Given the description of an element on the screen output the (x, y) to click on. 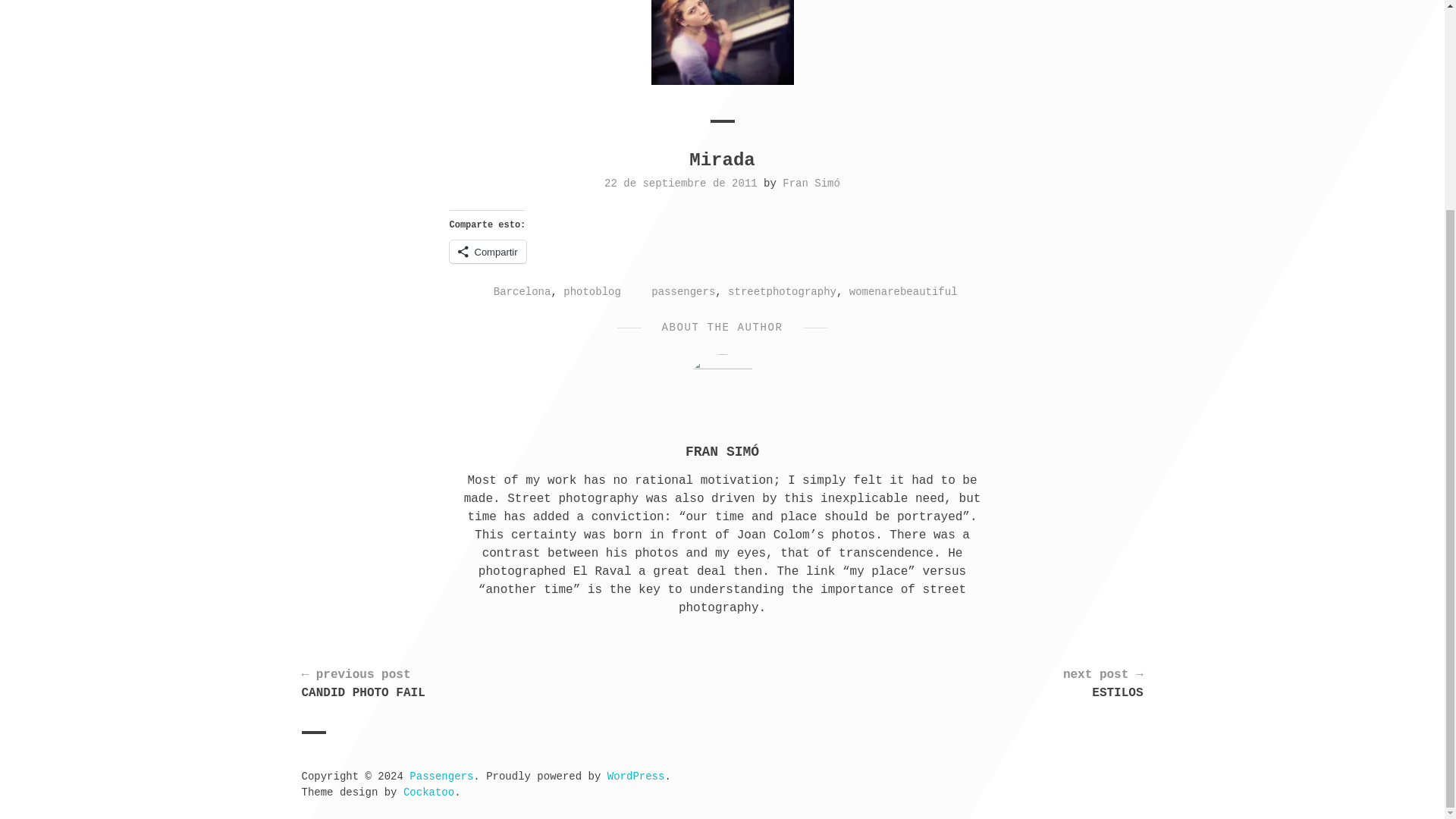
passengers (682, 291)
photoblog (592, 291)
Compartir (486, 251)
WordPress (636, 776)
Passengers (441, 776)
streetphotography (781, 291)
Barcelona (522, 291)
womenarebeautiful (903, 291)
Cockatoo (428, 792)
22 de septiembre de 2011 (680, 183)
